Given the description of an element on the screen output the (x, y) to click on. 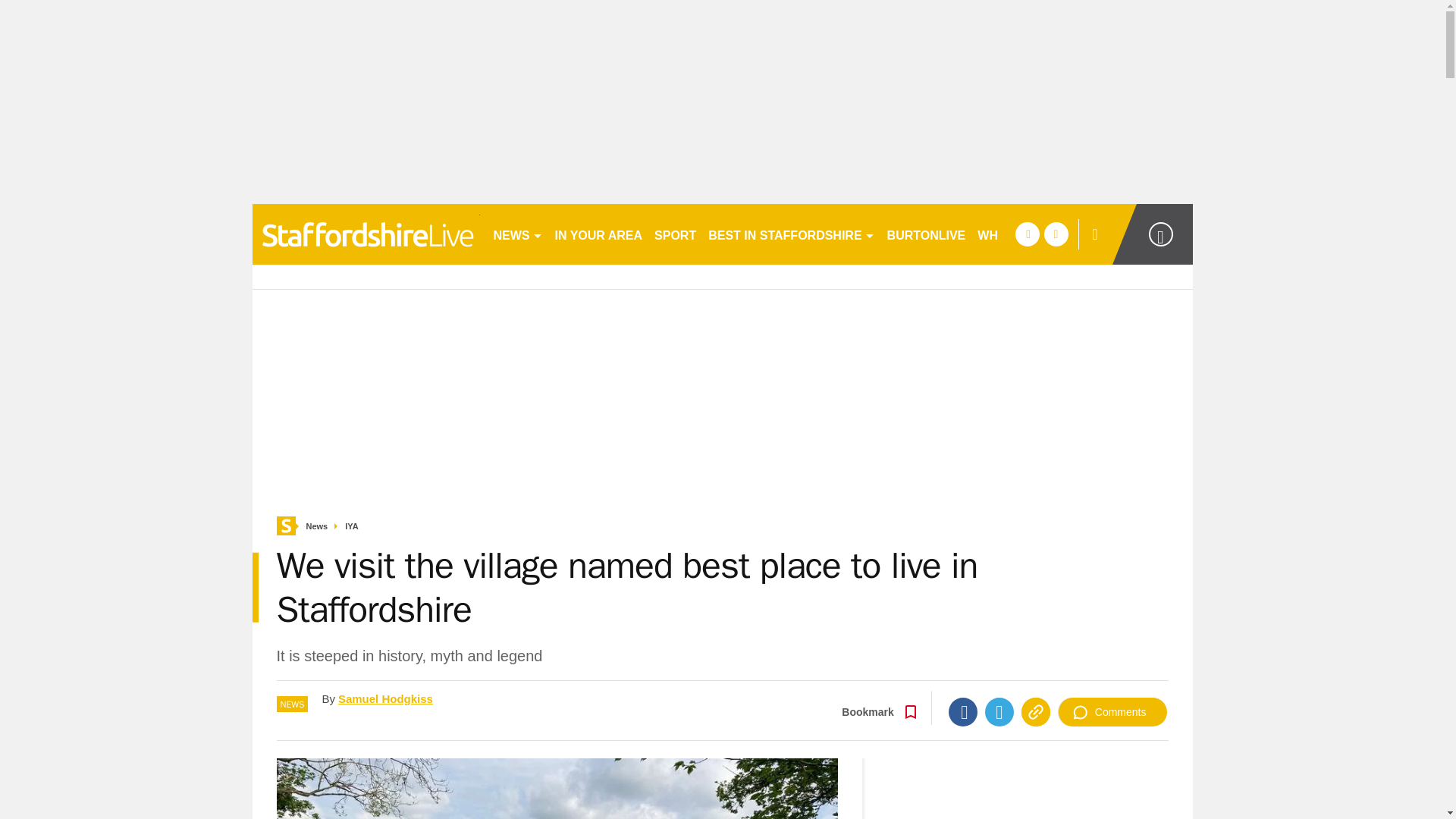
BEST IN STAFFORDSHIRE (790, 233)
NEWS (517, 233)
IN YOUR AREA (598, 233)
Facebook (962, 711)
twitter (1055, 233)
burtonmail (365, 233)
WHO WE ARE (1017, 233)
BURTONLIVE (926, 233)
Twitter (999, 711)
facebook (1026, 233)
Comments (1112, 711)
